Given the description of an element on the screen output the (x, y) to click on. 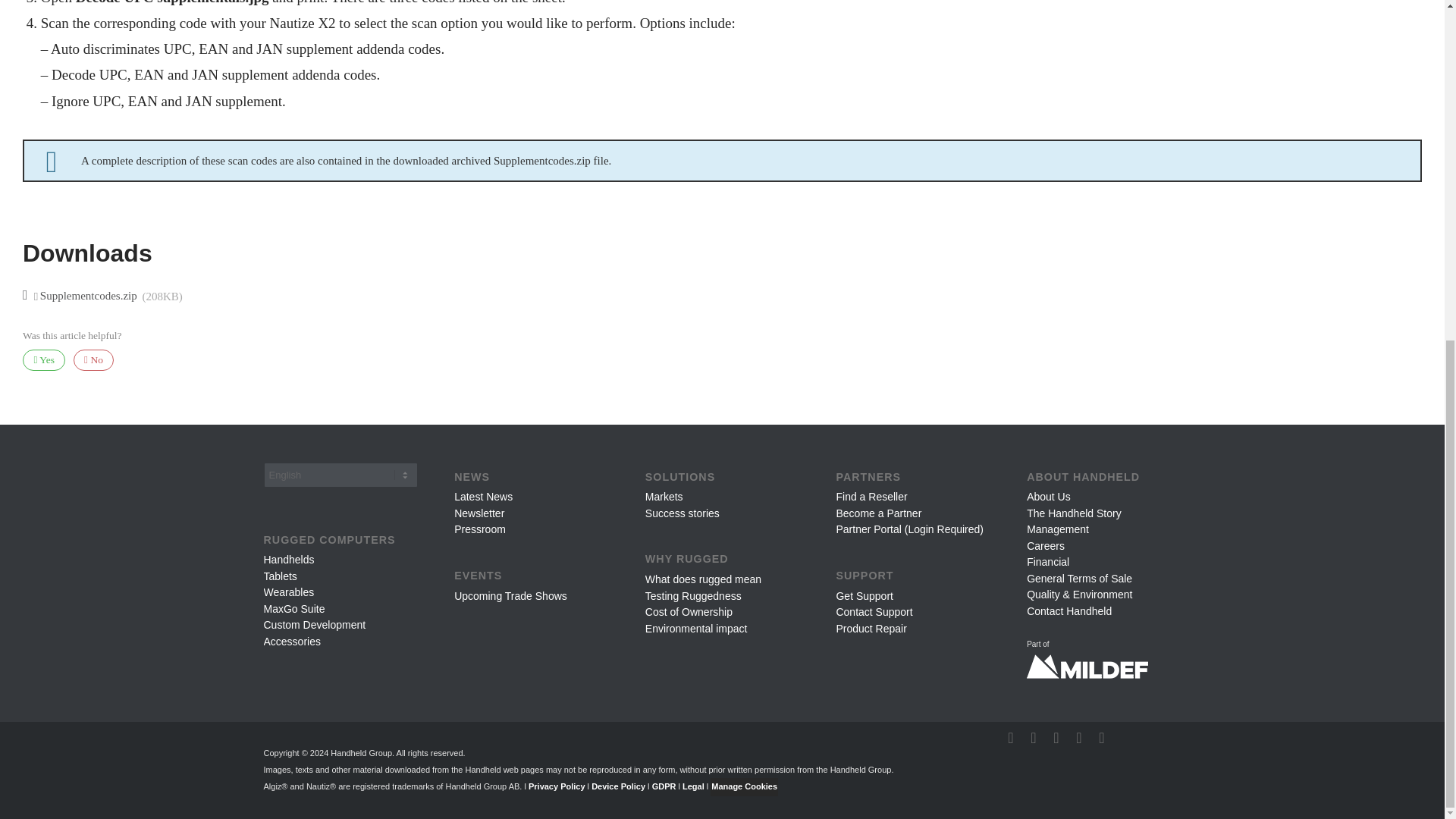
No (94, 360)
What does rugged mean (703, 579)
Handhelds (288, 559)
Tablets (280, 576)
Yes (44, 360)
Success stories (682, 512)
Wearables (288, 592)
MaxGo Suite (293, 608)
Youtube (1056, 737)
The Handheld Story (1073, 512)
